Given the description of an element on the screen output the (x, y) to click on. 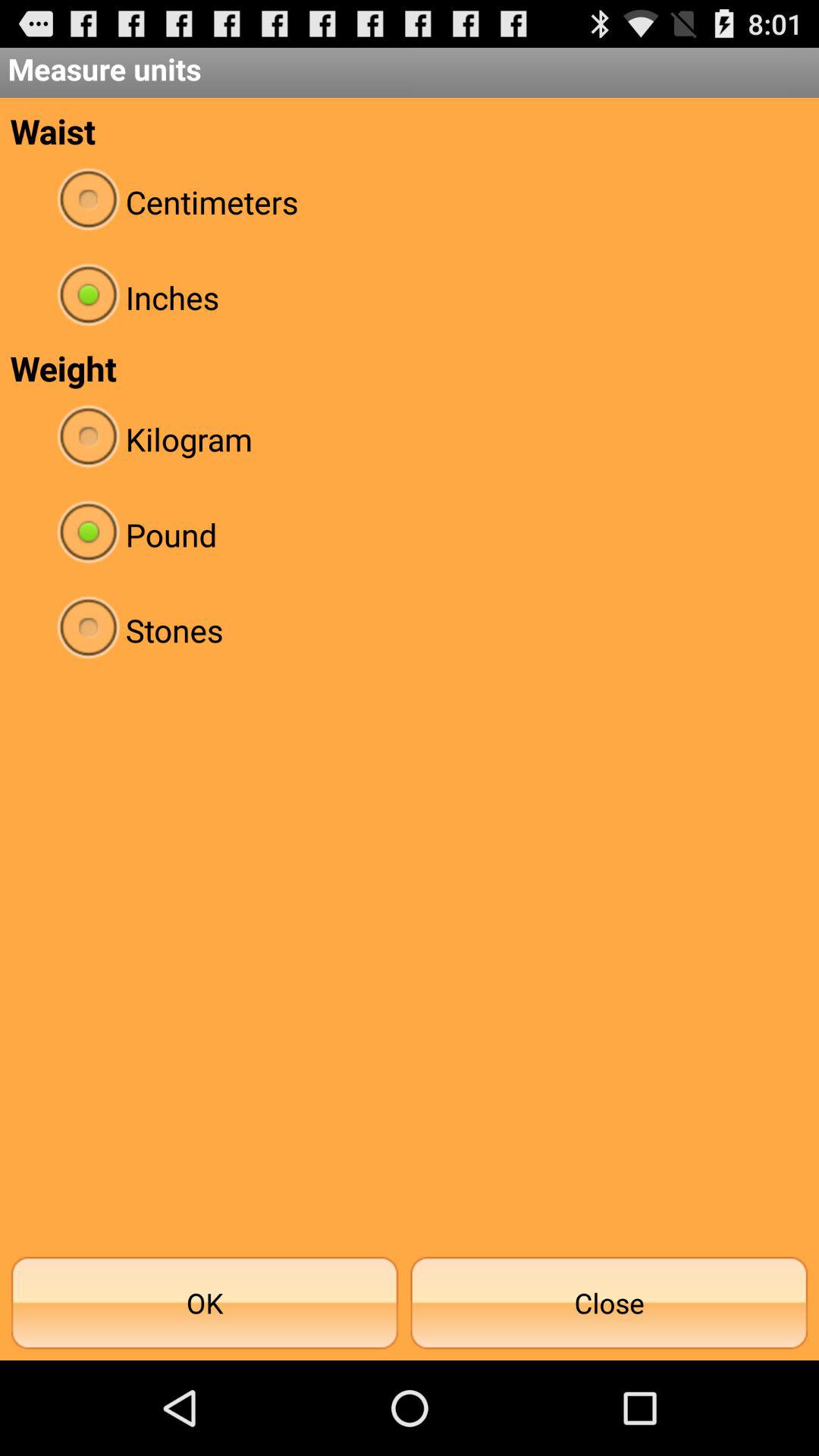
flip until the stones icon (409, 629)
